Given the description of an element on the screen output the (x, y) to click on. 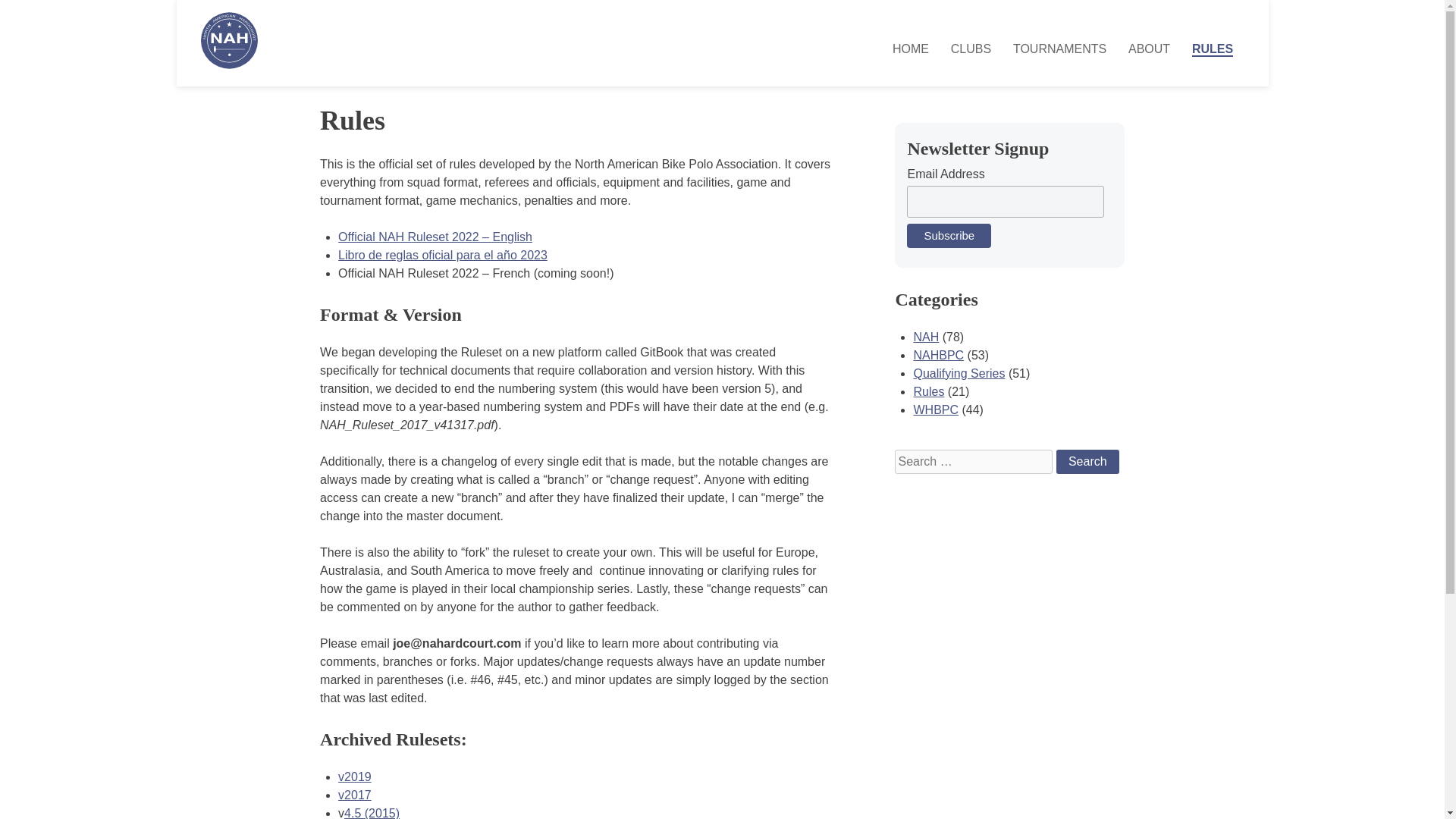
v2017 (354, 794)
Search (1088, 461)
WHBPC (935, 409)
RULES (1212, 49)
HOME (910, 48)
Search (1088, 461)
Subscribe (949, 235)
NAHBPA logo (228, 40)
Subscribe (949, 235)
Search (1088, 461)
NAHBPC (937, 354)
CLUBS (970, 48)
NAH (925, 336)
Rules (927, 391)
Qualifying Series (958, 373)
